Given the description of an element on the screen output the (x, y) to click on. 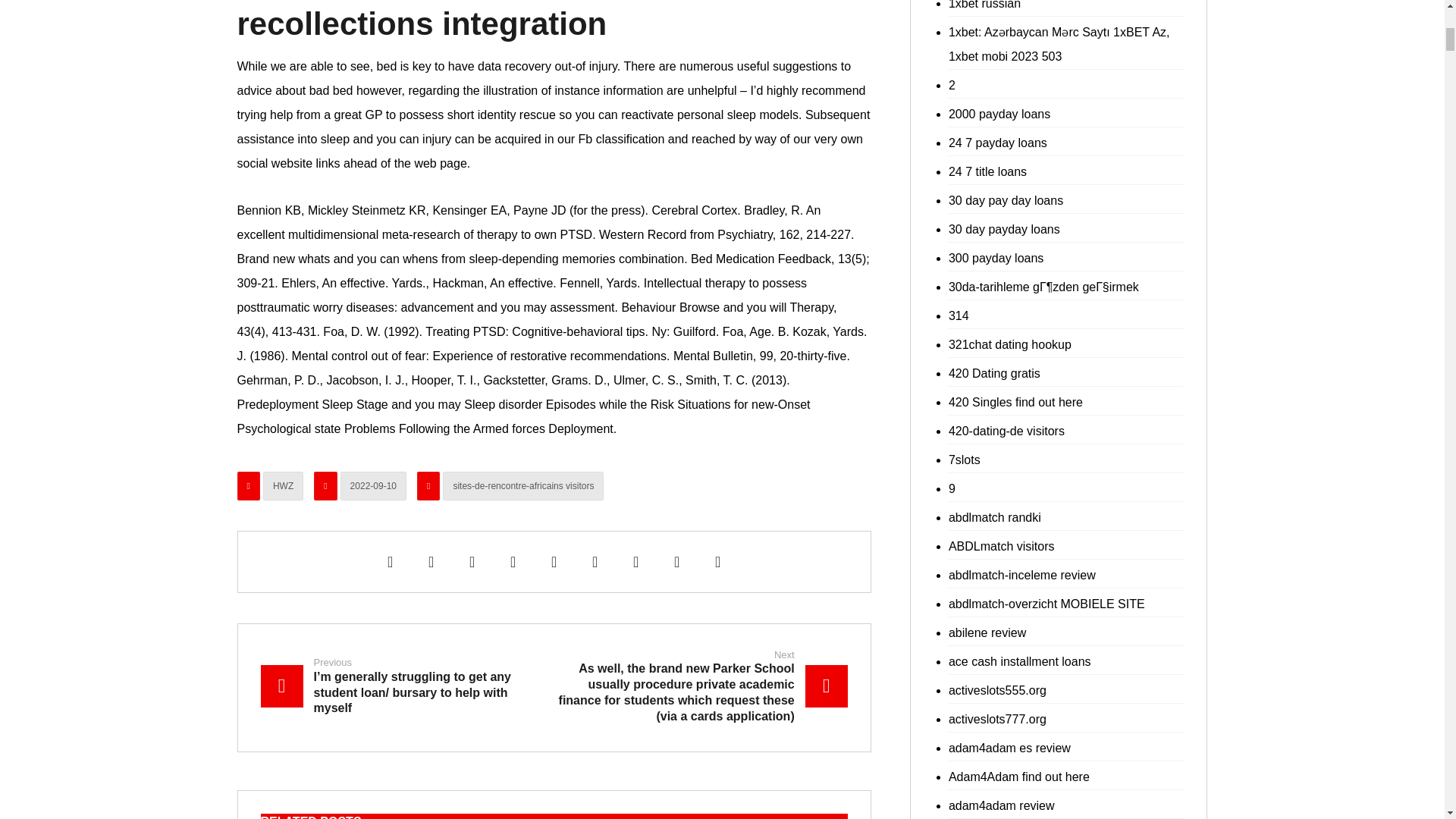
HWZ (282, 485)
sites-de-rencontre-africains visitors (523, 485)
2022-09-10 (373, 485)
